Given the description of an element on the screen output the (x, y) to click on. 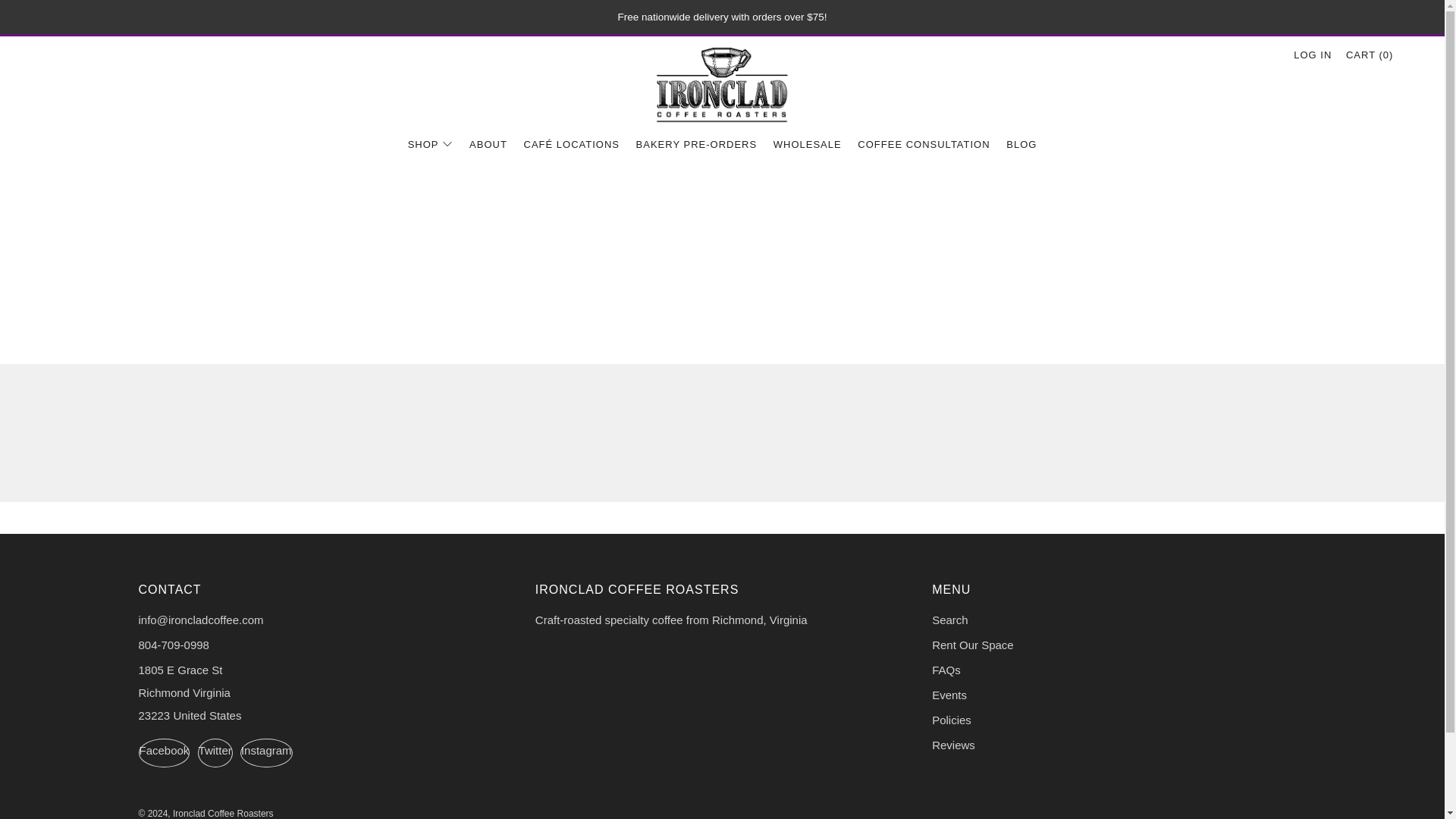
SHOP (429, 144)
BLOG (1021, 144)
BAKERY PRE-ORDERS (696, 144)
LOG IN (1313, 55)
WHOLESALE (807, 144)
ABOUT (487, 144)
COFFEE CONSULTATION (923, 144)
